Given the description of an element on the screen output the (x, y) to click on. 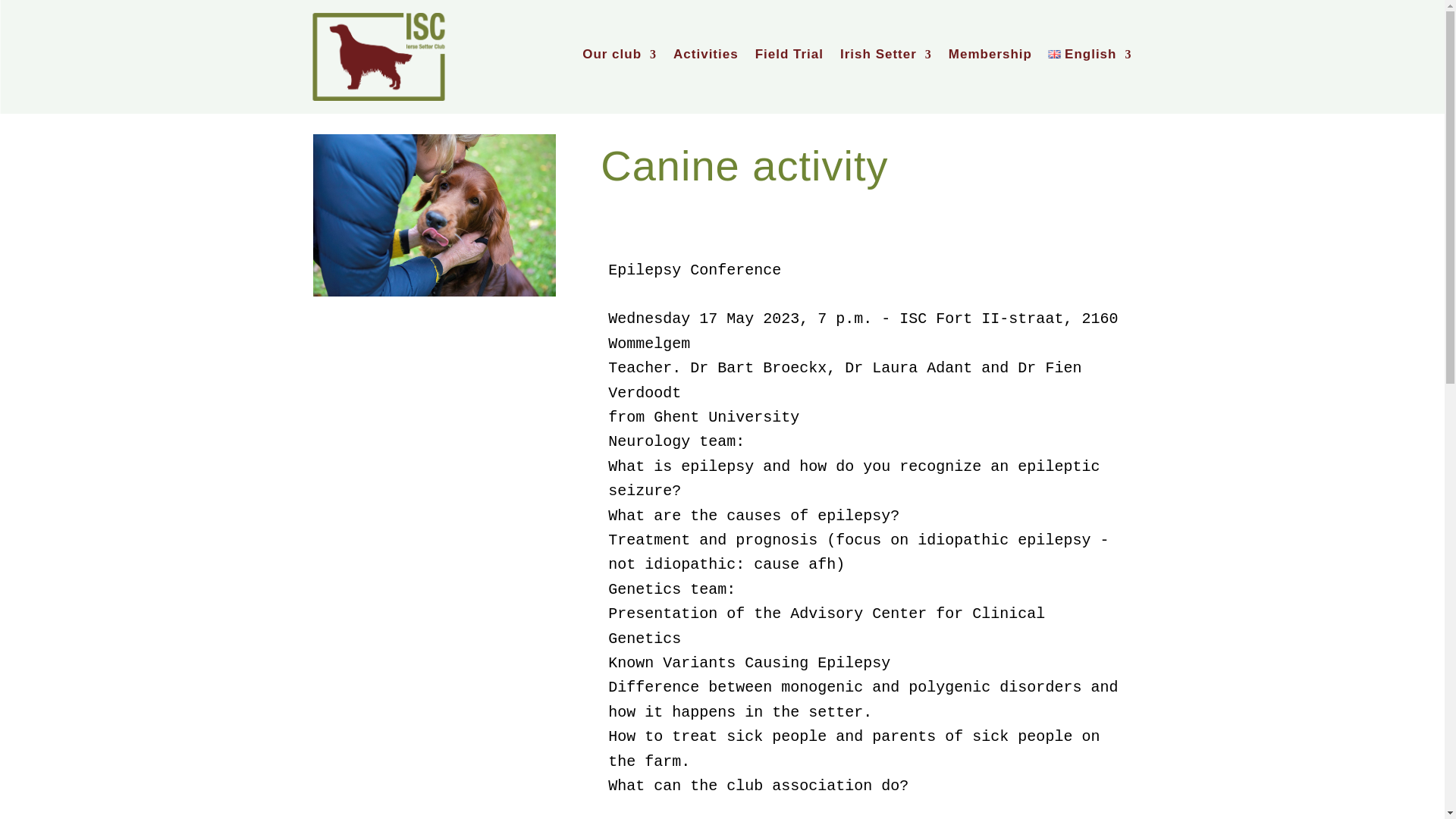
Our club (619, 57)
Field Trial (789, 57)
English (1090, 57)
Membership (990, 57)
Activities (705, 57)
Irish Setter (885, 57)
